Given the description of an element on the screen output the (x, y) to click on. 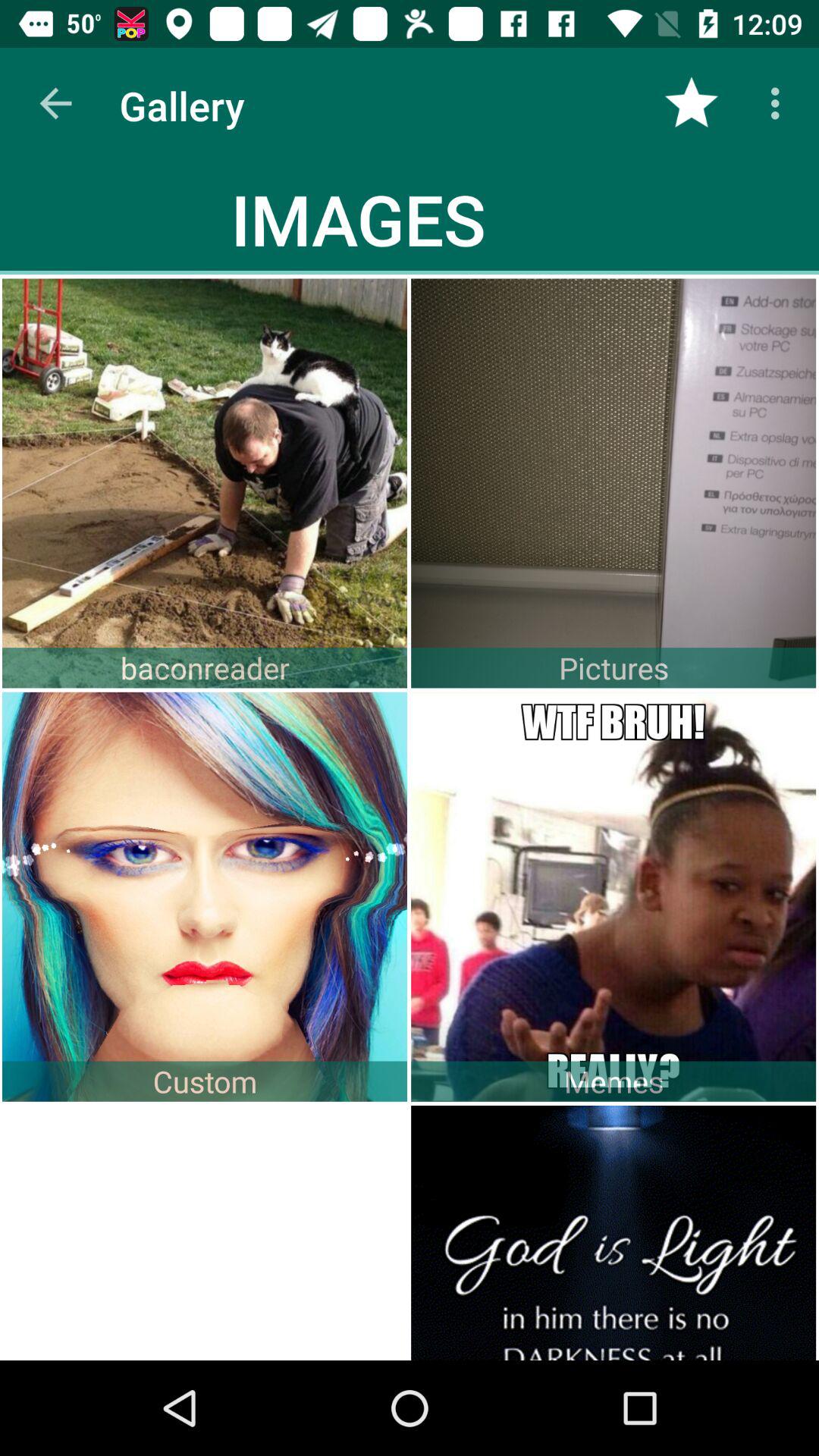
open app to the left of gallery app (55, 103)
